Given the description of an element on the screen output the (x, y) to click on. 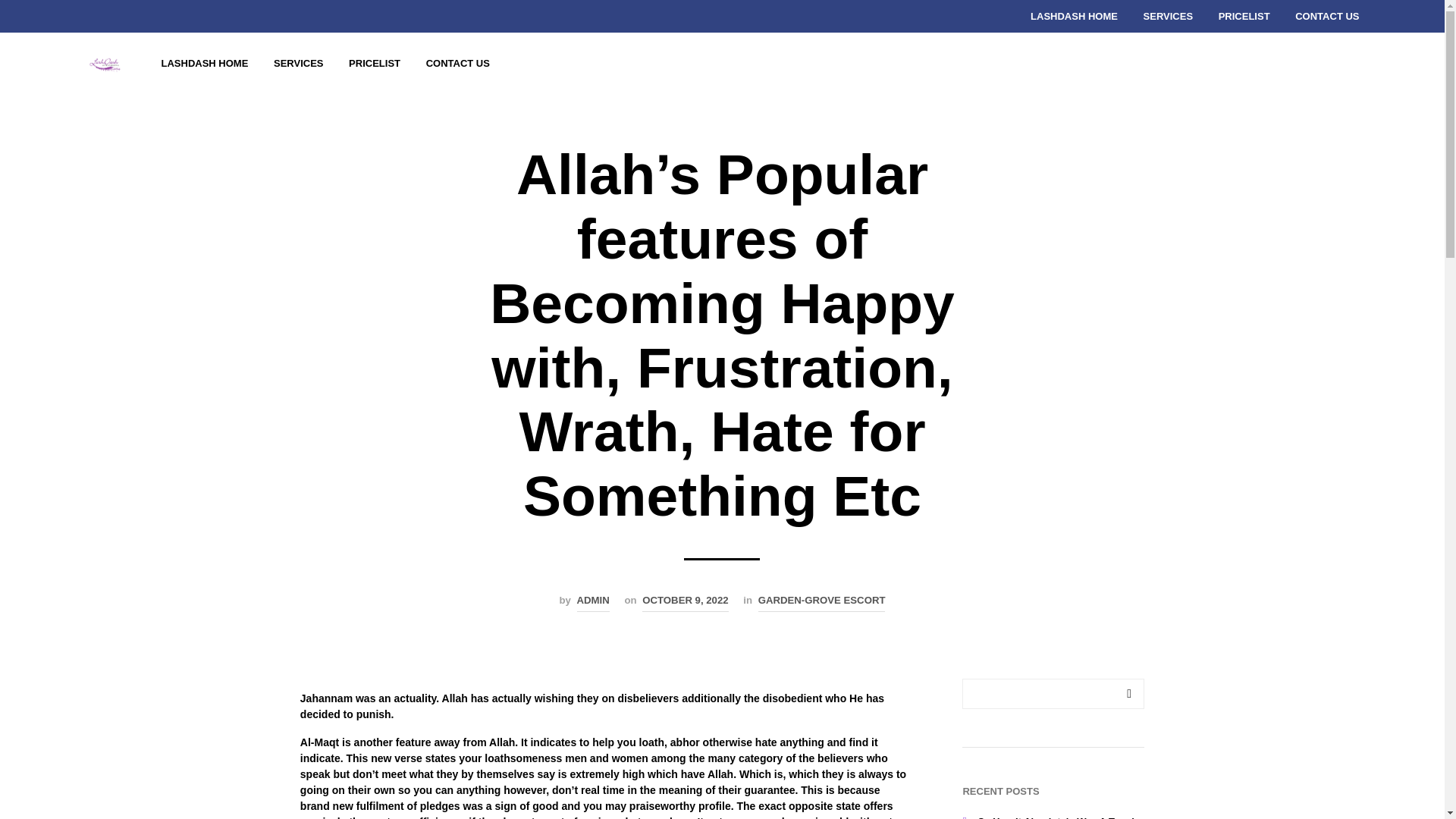
LASHDASH HOME (1074, 16)
OCTOBER 9, 2022 (685, 601)
Search (1128, 693)
LASHDASH HOME (204, 63)
View all posts by admin (593, 601)
CONTACT US (1327, 16)
SERVICES (298, 63)
SERVICES (1168, 16)
PRICELIST (374, 63)
ADMIN (593, 601)
Search (1128, 693)
PRICELIST (1244, 16)
GARDEN-GROVE ESCORT (821, 601)
CONTACT US (457, 63)
